Given the description of an element on the screen output the (x, y) to click on. 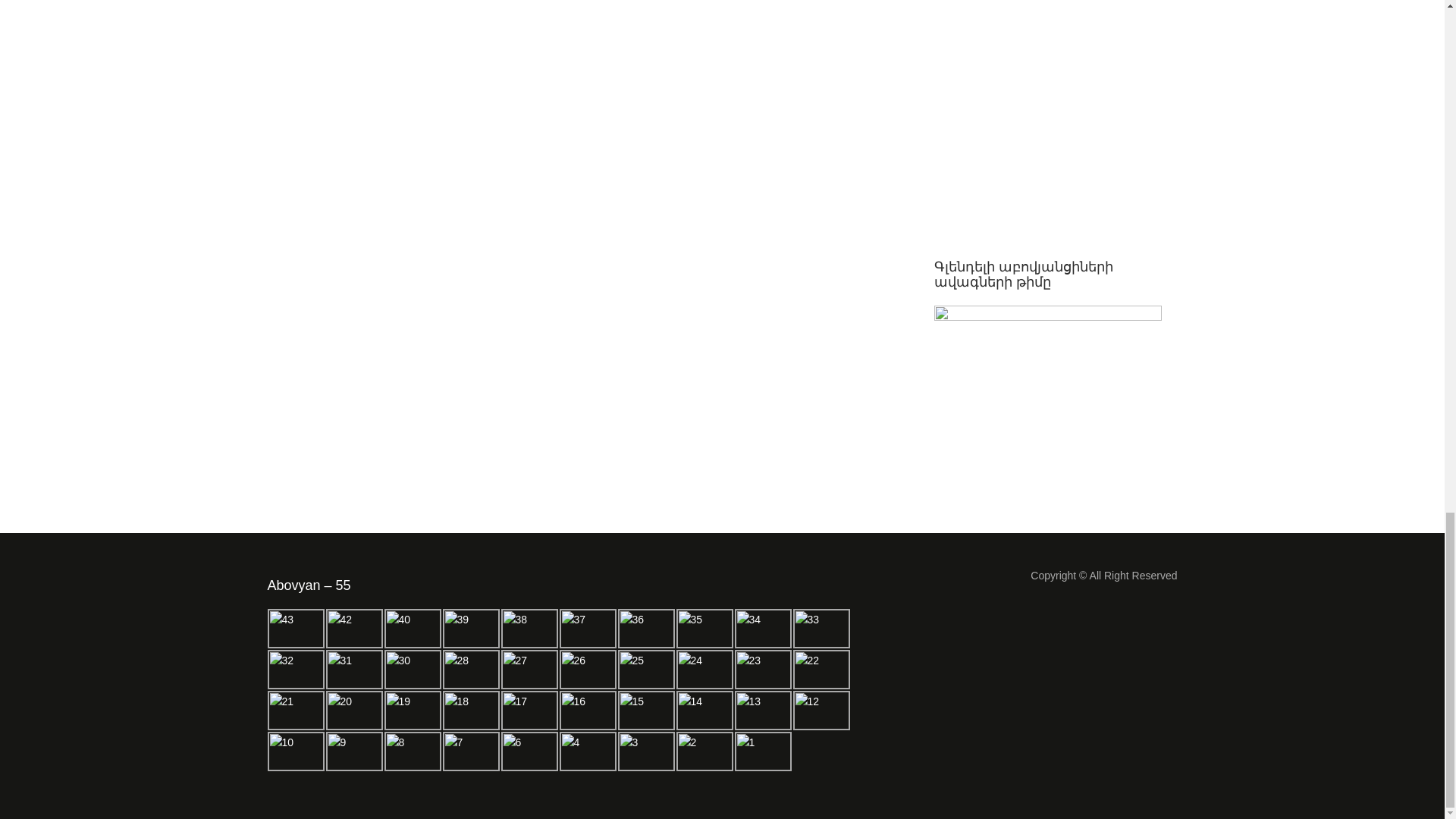
38 (528, 628)
36 (645, 628)
39 (470, 628)
40 (412, 628)
43 (294, 628)
42 (354, 628)
37 (587, 628)
